Given the description of an element on the screen output the (x, y) to click on. 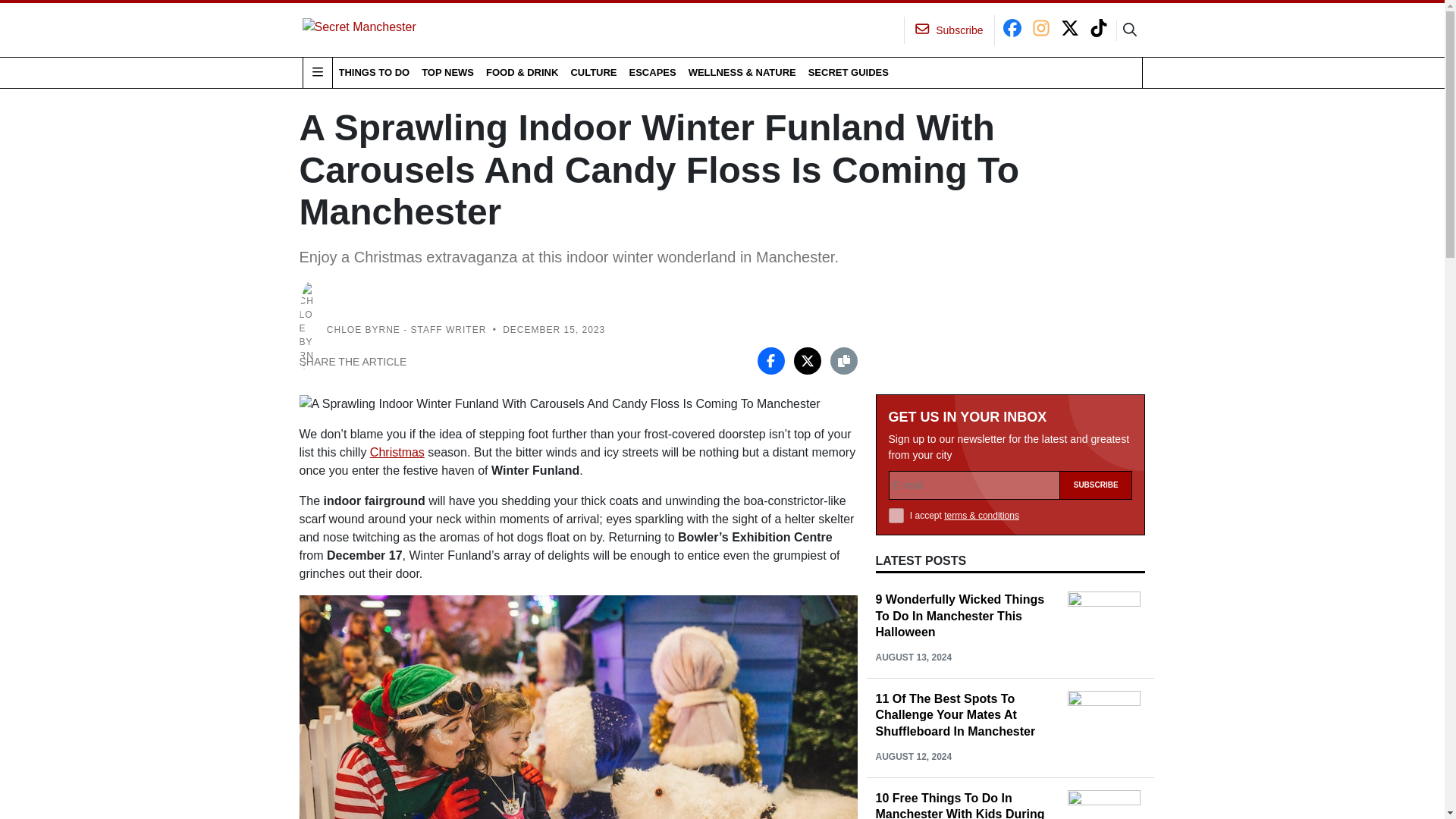
TOP NEWS (448, 72)
CHLOE BYRNE (363, 329)
Subscribe (1095, 484)
SECRET GUIDES (848, 72)
1 (896, 515)
AUGUST 13, 2024 (913, 656)
Subscribe (1095, 484)
ESCAPES (652, 72)
